Given the description of an element on the screen output the (x, y) to click on. 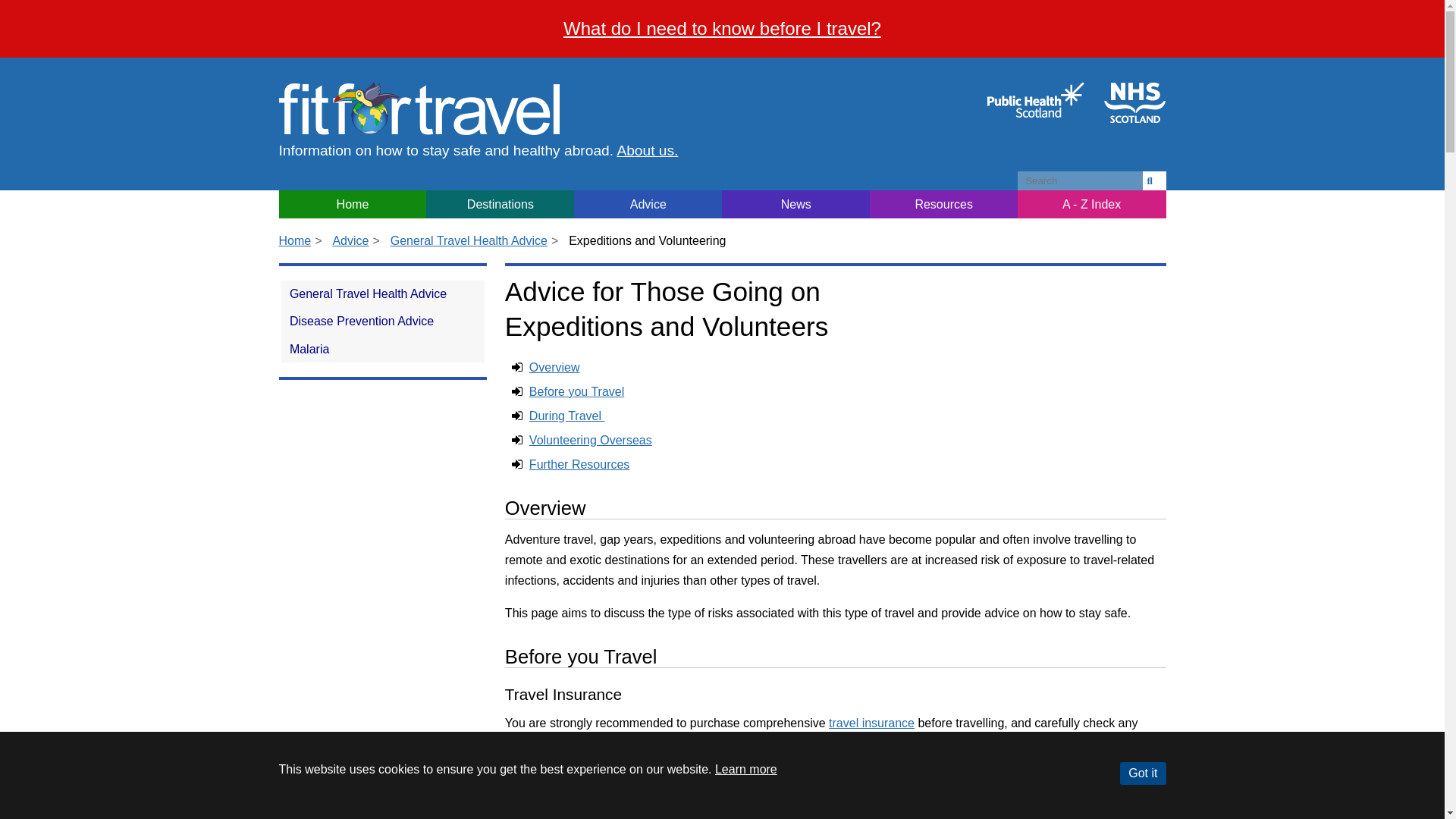
Home (419, 106)
Got it (1142, 773)
Overview (554, 367)
travel insurance (871, 722)
Destinations (499, 204)
Resources (943, 204)
Volunteering Overseas (590, 440)
Home (352, 204)
Advice (647, 204)
A - Z Index (1091, 204)
Learn more (745, 768)
General Travel Health Advice (468, 240)
Advice (349, 240)
About us. (646, 150)
During Travel  (567, 415)
